Given the description of an element on the screen output the (x, y) to click on. 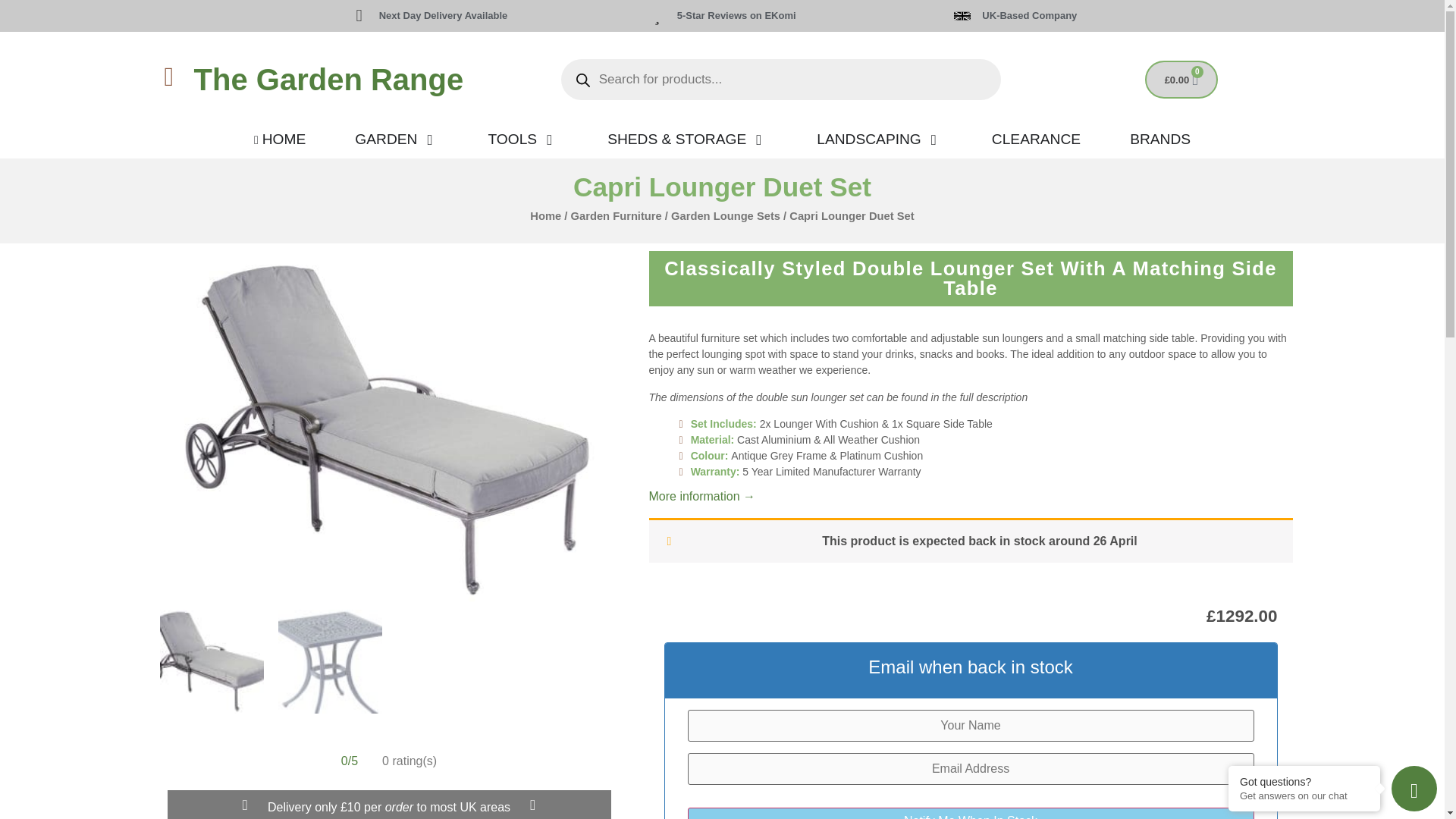
UK-Based Company (1029, 15)
BRANDS (1160, 139)
HOME (279, 139)
Next Day Delivery Available (443, 15)
CLEARANCE (1035, 139)
The Garden Range (328, 79)
Get answers on our chat (1304, 795)
Notify Me When In Stock (970, 813)
5-Star Reviews on EKomi (736, 15)
Got questions? (1304, 781)
